Given the description of an element on the screen output the (x, y) to click on. 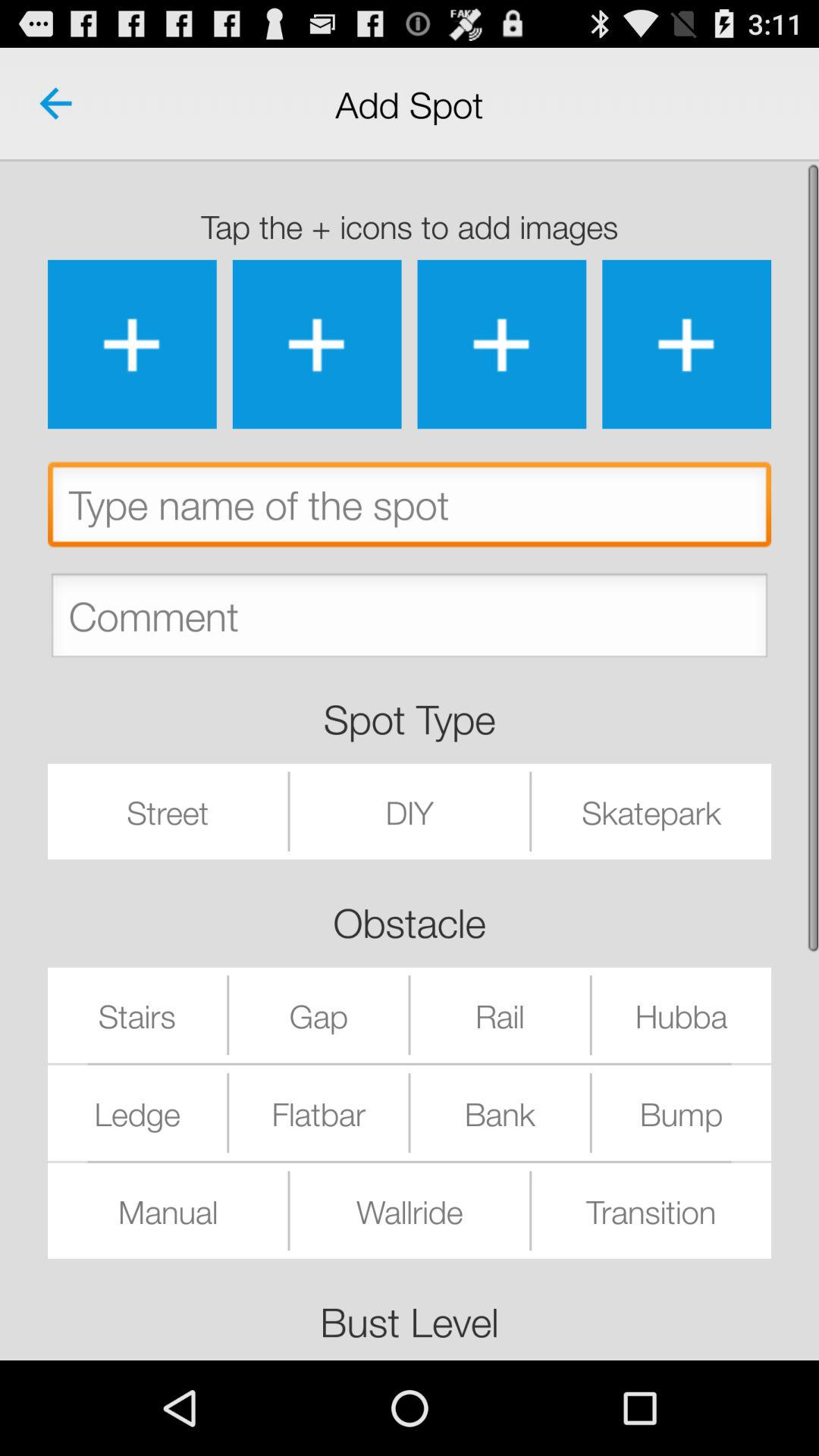
choose the hubba icon (681, 1014)
